Given the description of an element on the screen output the (x, y) to click on. 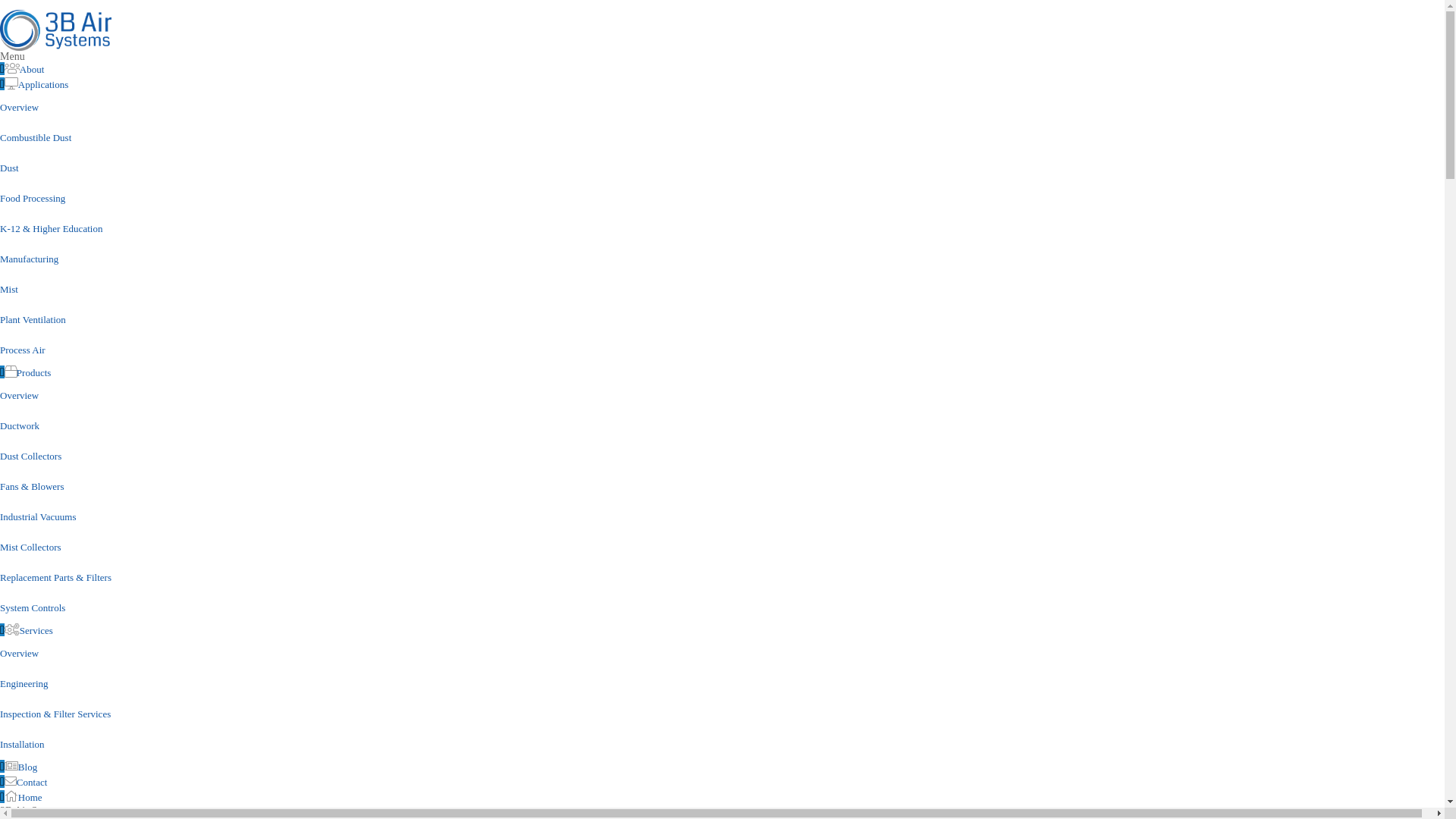
Dust Collectors Element type: text (30, 455)
Fans & Blowers Element type: text (32, 486)
System Controls Element type: text (32, 607)
About Element type: text (31, 69)
Engineering Element type: text (24, 683)
Products Element type: text (33, 372)
Installation Element type: text (22, 743)
Inspection & Filter Services Element type: text (55, 713)
Mist Element type: text (9, 288)
Blog Element type: text (27, 766)
Services Element type: text (36, 630)
Mist Collectors Element type: text (30, 546)
Industrial Vacuums Element type: text (38, 516)
Applications Element type: text (43, 84)
Overview Element type: text (19, 395)
Food Processing Element type: text (32, 197)
Combustible Dust Element type: text (35, 137)
K-12 & Higher Education Element type: text (51, 228)
Replacement Parts & Filters Element type: text (55, 577)
Contact Element type: text (31, 781)
Home Element type: text (30, 797)
Dust Element type: text (9, 167)
Ductwork Element type: text (19, 425)
Manufacturing Element type: text (29, 258)
Process Air Element type: text (22, 349)
Overview Element type: text (19, 106)
Overview Element type: text (19, 652)
Plant Ventilation Element type: text (32, 319)
